Given the description of an element on the screen output the (x, y) to click on. 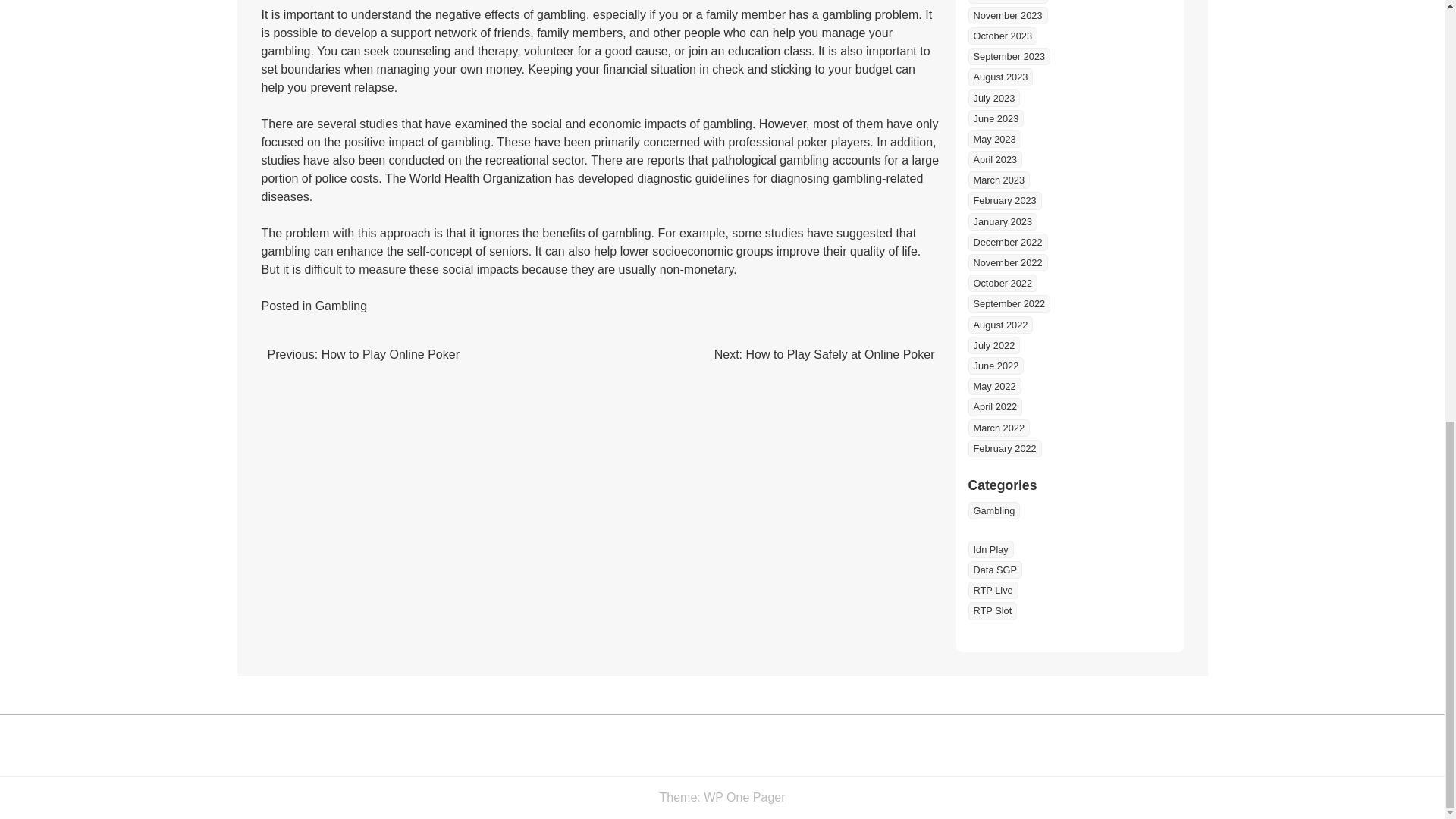
March 2023 (998, 180)
February 2023 (1004, 200)
Previous: How to Play Online Poker (362, 354)
June 2023 (995, 118)
November 2023 (1007, 15)
April 2023 (995, 159)
September 2023 (1008, 56)
November 2022 (1007, 262)
July 2023 (994, 98)
October 2022 (1002, 282)
December 2023 (1007, 2)
Gambling (340, 305)
October 2023 (1002, 36)
September 2022 (1008, 303)
January 2023 (1002, 221)
